Given the description of an element on the screen output the (x, y) to click on. 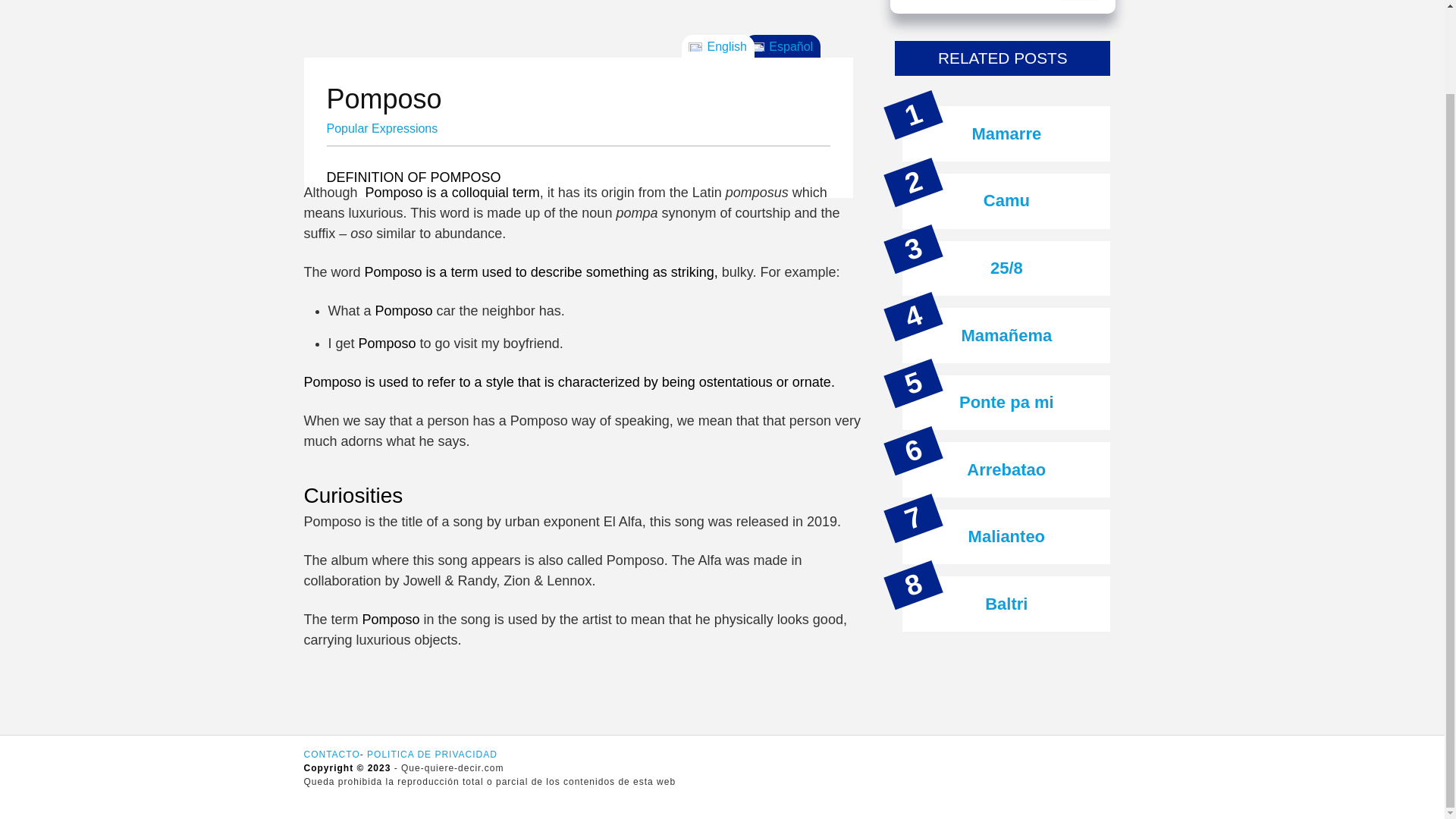
Baltri (1006, 603)
CONTACTO (330, 754)
Ponte pa mi (1006, 402)
POLITICA DE PRIVACIDAD (431, 754)
Arrebatao (1005, 469)
English (717, 45)
Popular Expressions (382, 128)
Camu (1006, 199)
Malianteo (1006, 536)
Mamarre (1006, 133)
